Given the description of an element on the screen output the (x, y) to click on. 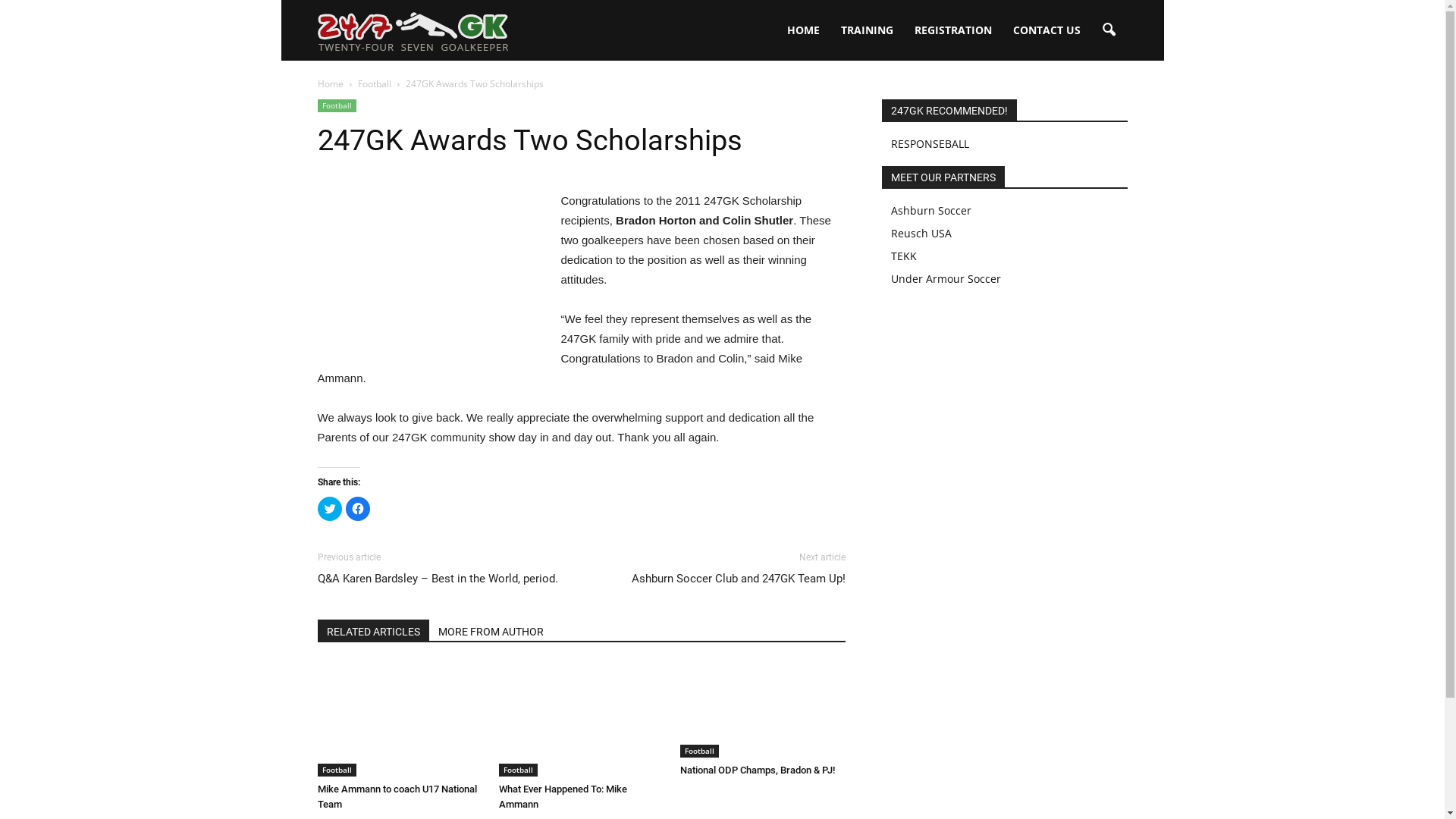
RELATED ARTICLES Element type: text (372, 629)
MORE FROM AUTHOR Element type: text (490, 629)
TEKK Element type: text (903, 255)
Mike Ammann to coach U17 National Team Element type: text (396, 796)
National ODP Champs, Bradon & PJ! Element type: text (756, 769)
CONTACT US Element type: text (1046, 30)
What Ever Happened To: Mike Ammann Element type: text (562, 796)
Ashburn Soccer Club and 247GK Team Up! Element type: text (737, 578)
Football Element type: text (335, 769)
HOME Element type: text (803, 30)
Click to share on Twitter (Opens in new window) Element type: text (328, 508)
Reusch USA Element type: text (920, 232)
TRAINING Element type: text (866, 30)
Football Element type: text (374, 83)
National ODP Champs, Bradon & PJ! Element type: hover (761, 709)
What Ever Happened To: Mike Ammann Element type: hover (581, 719)
Football Element type: text (335, 105)
RESPONSEBALL Element type: text (929, 143)
Ashburn Soccer Element type: text (930, 210)
Twenty-Four Seven Goalkeeper Element type: text (412, 30)
Home Element type: text (329, 83)
Click to share on Facebook (Opens in new window) Element type: text (357, 508)
Mike Ammann to coach U17 National Team Element type: hover (399, 719)
Under Armour Soccer Element type: text (945, 278)
Football Element type: text (517, 769)
Football Element type: text (698, 750)
REGISTRATION Element type: text (952, 30)
